Given the description of an element on the screen output the (x, y) to click on. 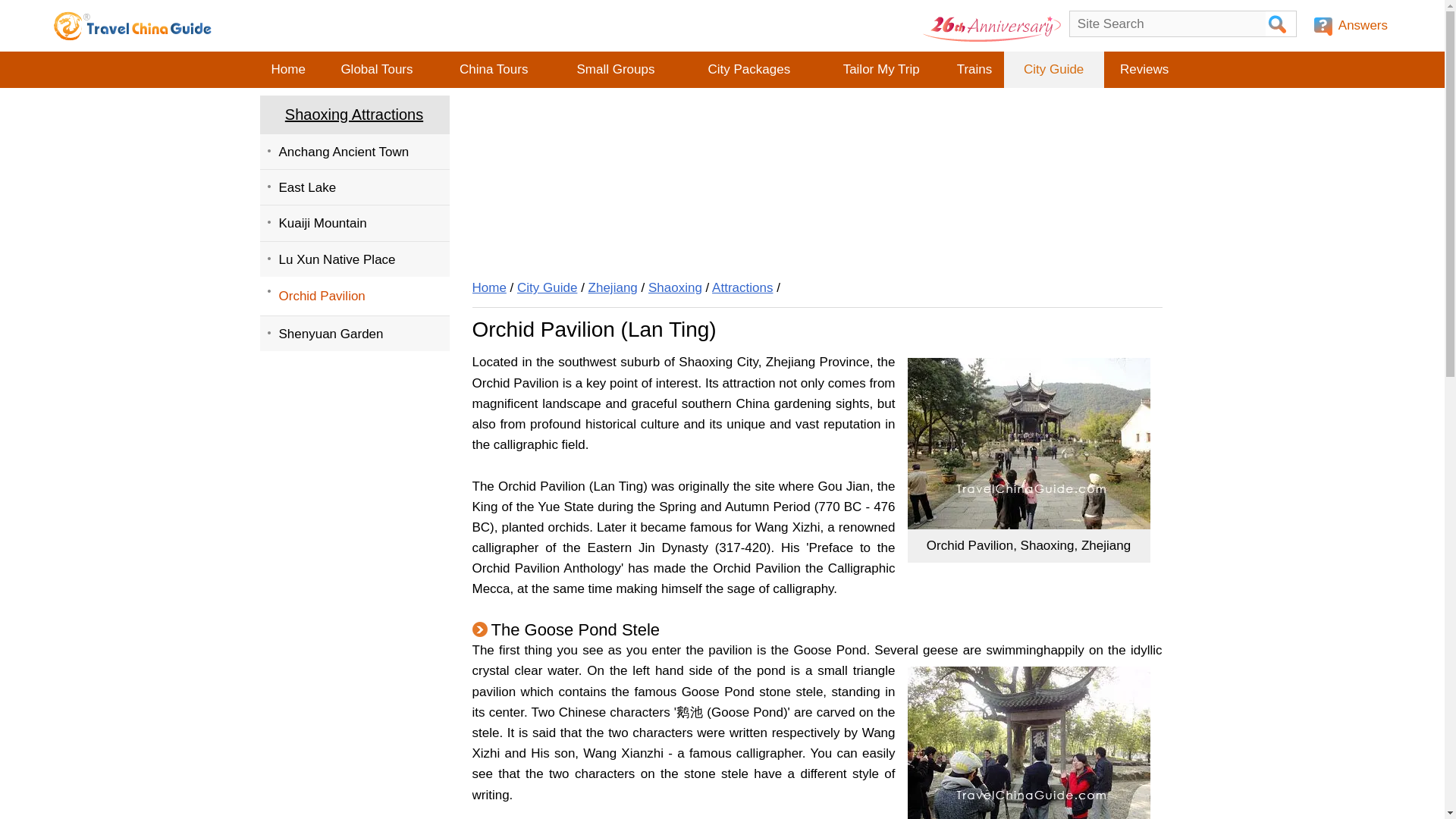
Kuaiji Mountain (353, 222)
City Guide (1053, 69)
Trains (973, 69)
East Lake (353, 186)
Shenyuan Garden (353, 333)
Zhejiang (612, 287)
Attractions (742, 287)
Tailor My Trip (880, 69)
Lu Xun Native Place (353, 258)
Shaoxing (674, 287)
Answers (1352, 25)
Anchang Ancient Town (353, 150)
City Guide (546, 287)
Small Groups (614, 69)
Shaoxing Attractions (353, 114)
